Given the description of an element on the screen output the (x, y) to click on. 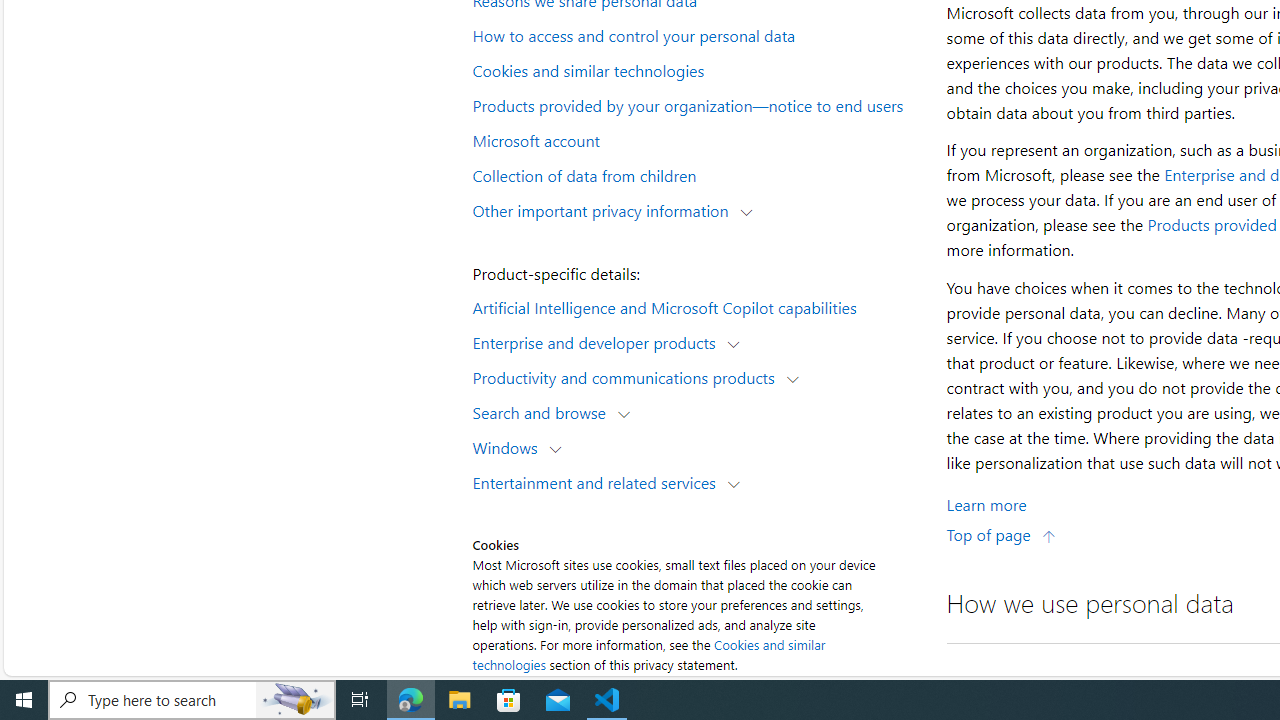
Collection of data from children (696, 174)
